Given the description of an element on the screen output the (x, y) to click on. 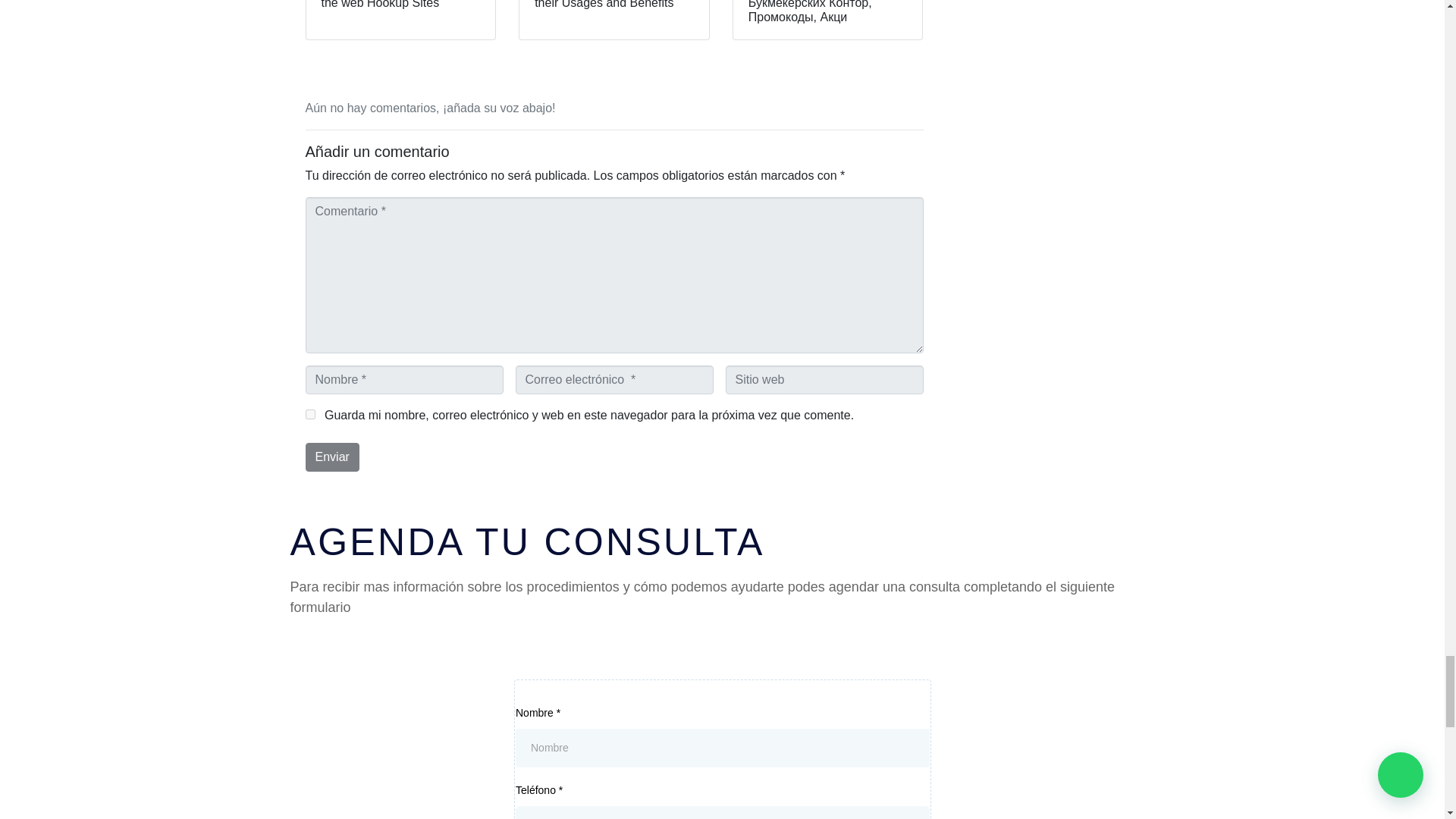
yes (309, 414)
